Given the description of an element on the screen output the (x, y) to click on. 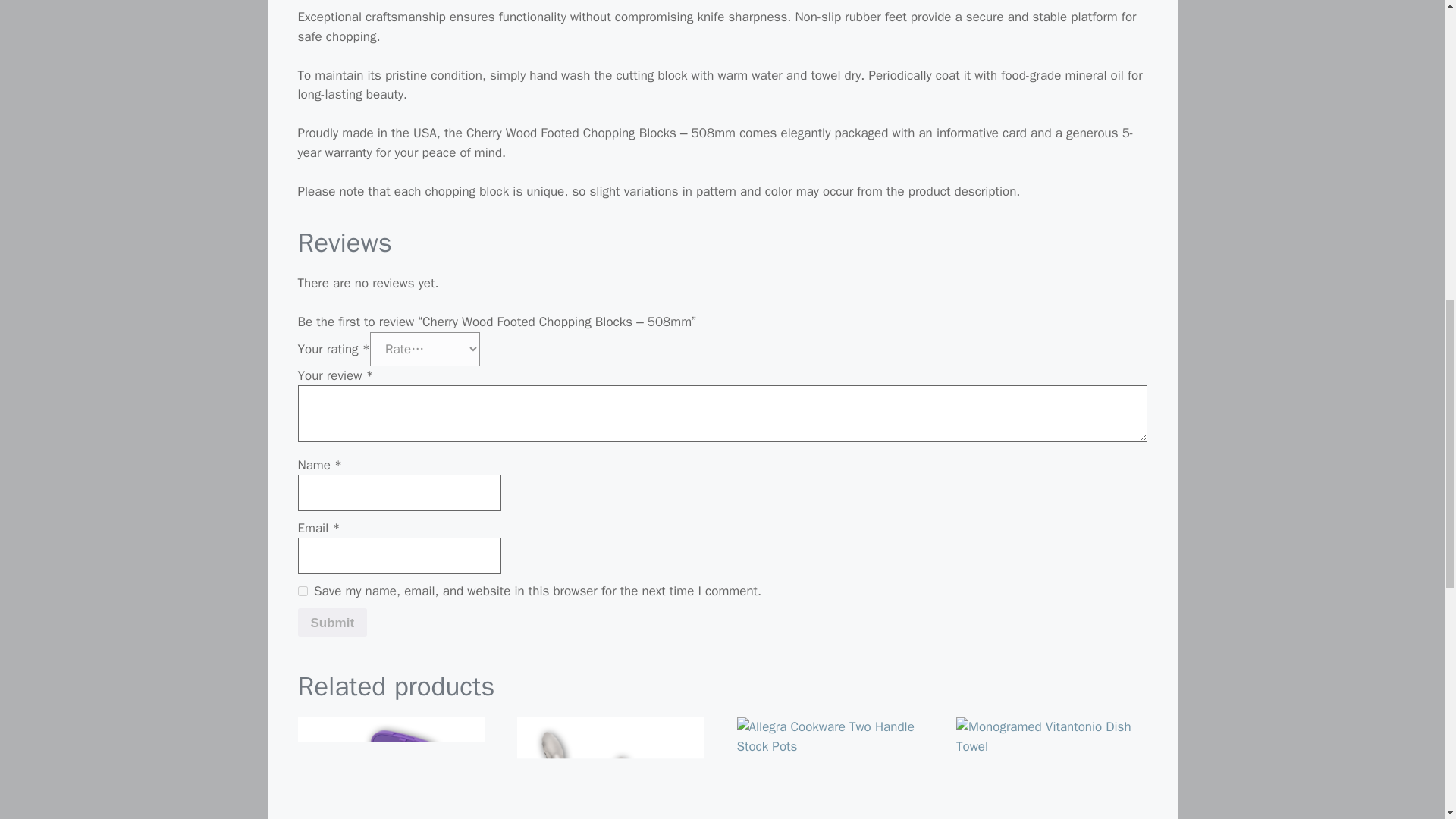
yes (302, 591)
Scroll back to top (1406, 720)
Allegra Cookware Two Handle Stock Pots (830, 768)
Submit (331, 622)
EZ Slicer and Dicer Garlic Cube (390, 768)
Submit (331, 622)
Monogramed Vitantonio Dish Towel (1049, 768)
